Given the description of an element on the screen output the (x, y) to click on. 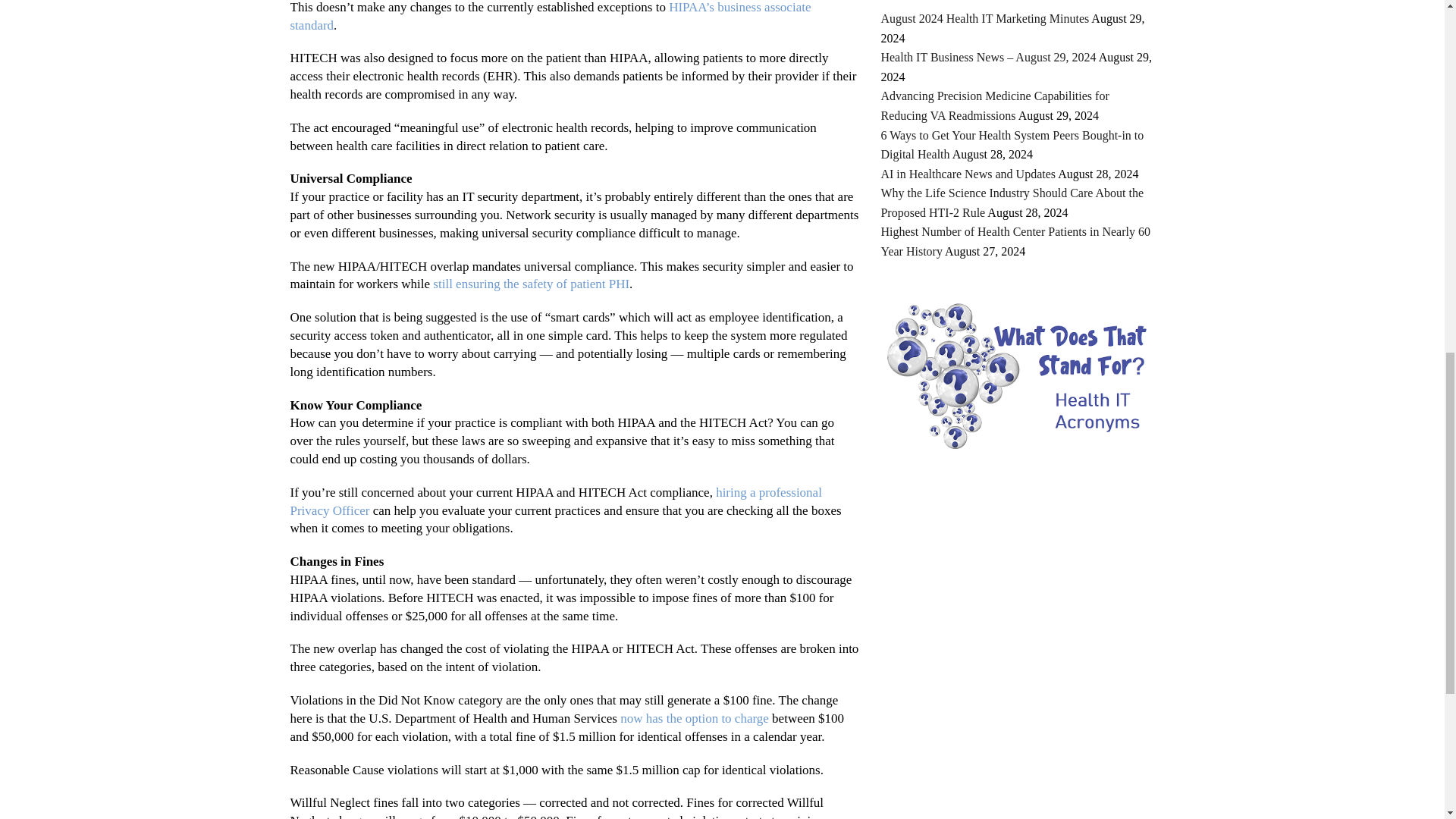
hiring a professional Privacy Officer (555, 501)
still ensuring the safety of patient PHI (530, 283)
now has the option to charge (694, 718)
